Given the description of an element on the screen output the (x, y) to click on. 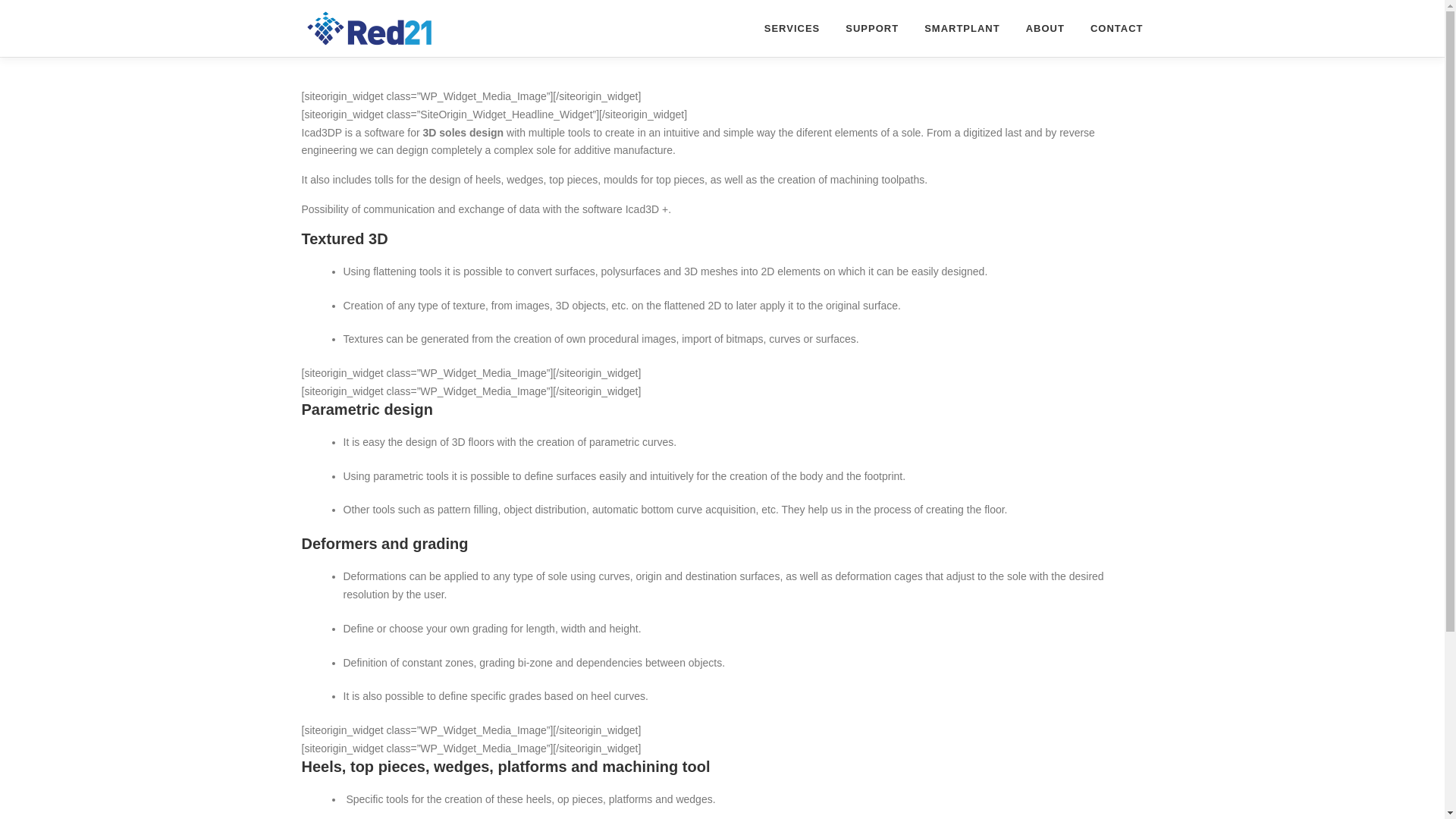
SERVICES (791, 28)
ABOUT (1045, 28)
CONTACT (1109, 28)
SUPPORT (871, 28)
SMARTPLANT (962, 28)
